Given the description of an element on the screen output the (x, y) to click on. 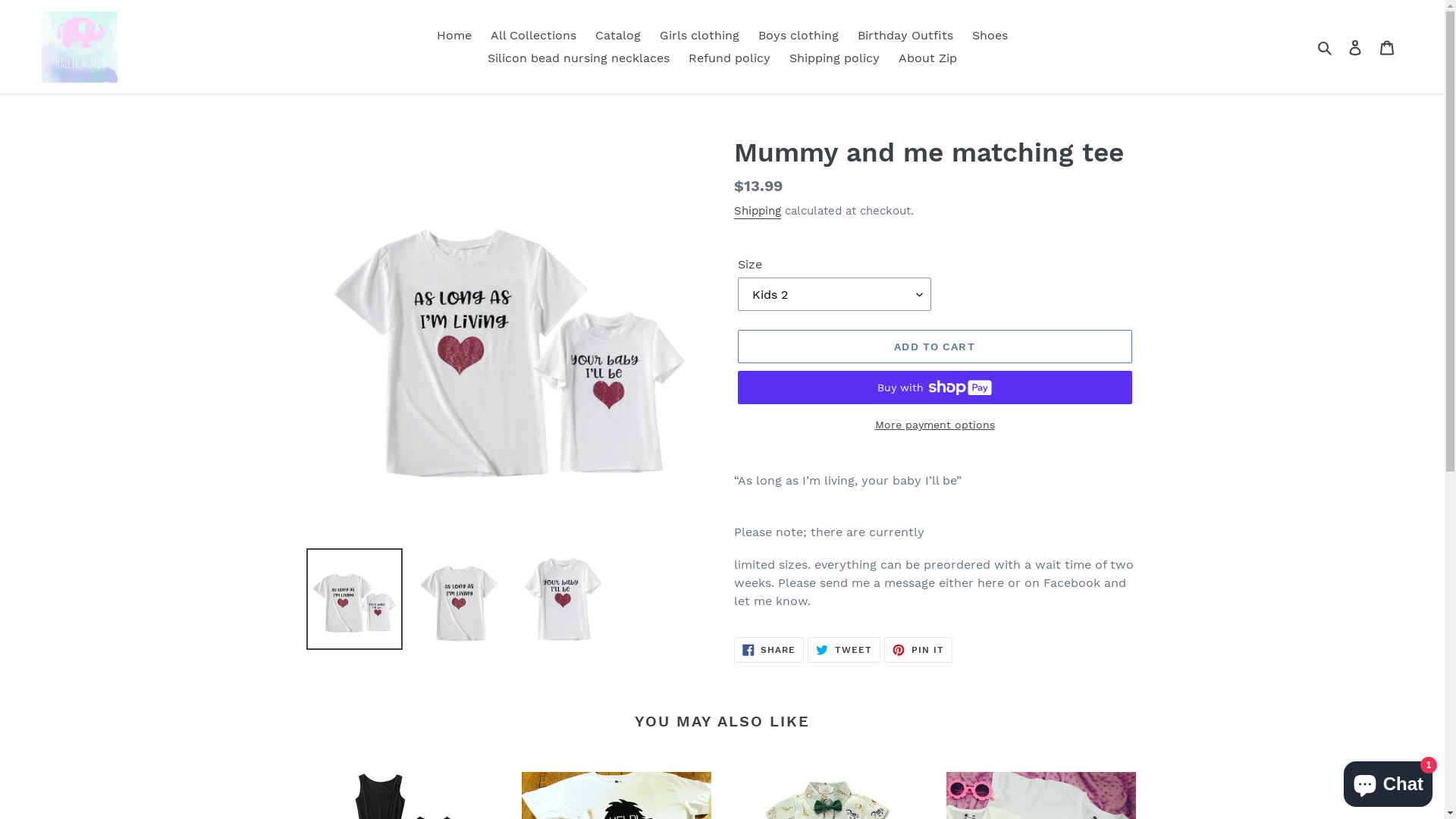
Cart Element type: text (1386, 46)
PIN IT
PIN ON PINTEREST Element type: text (918, 649)
Silicon bead nursing necklaces Element type: text (578, 58)
Log in Element type: text (1355, 46)
Girls clothing Element type: text (699, 35)
Boys clothing Element type: text (798, 35)
Home Element type: text (454, 35)
Search Element type: text (1325, 46)
Birthday Outfits Element type: text (905, 35)
More payment options Element type: text (934, 424)
Shoes Element type: text (989, 35)
Shipping Element type: text (757, 211)
Catalog Element type: text (617, 35)
Refund policy Element type: text (729, 58)
About Zip Element type: text (927, 58)
Shopify online store chat Element type: hover (1388, 780)
ADD TO CART Element type: text (934, 346)
SHARE
SHARE ON FACEBOOK Element type: text (769, 649)
TWEET
TWEET ON TWITTER Element type: text (843, 649)
Shipping policy Element type: text (834, 58)
All Collections Element type: text (533, 35)
